Given the description of an element on the screen output the (x, y) to click on. 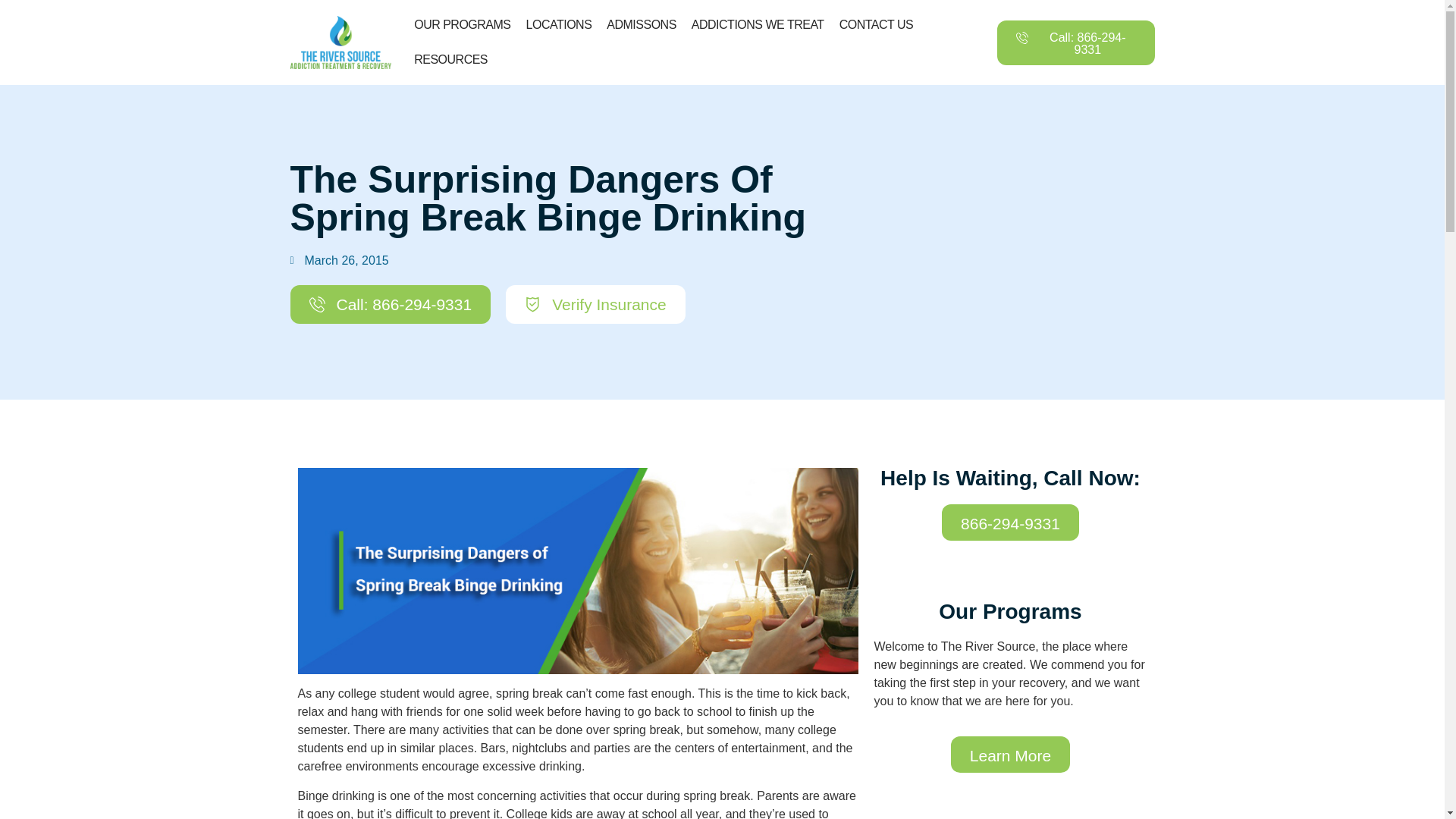
ADDICTIONS WE TREAT (757, 24)
RESOURCES (450, 59)
LOCATIONS (558, 24)
CONTACT US (876, 24)
ADMISSONS (641, 24)
OUR PROGRAMS (462, 24)
